Given the description of an element on the screen output the (x, y) to click on. 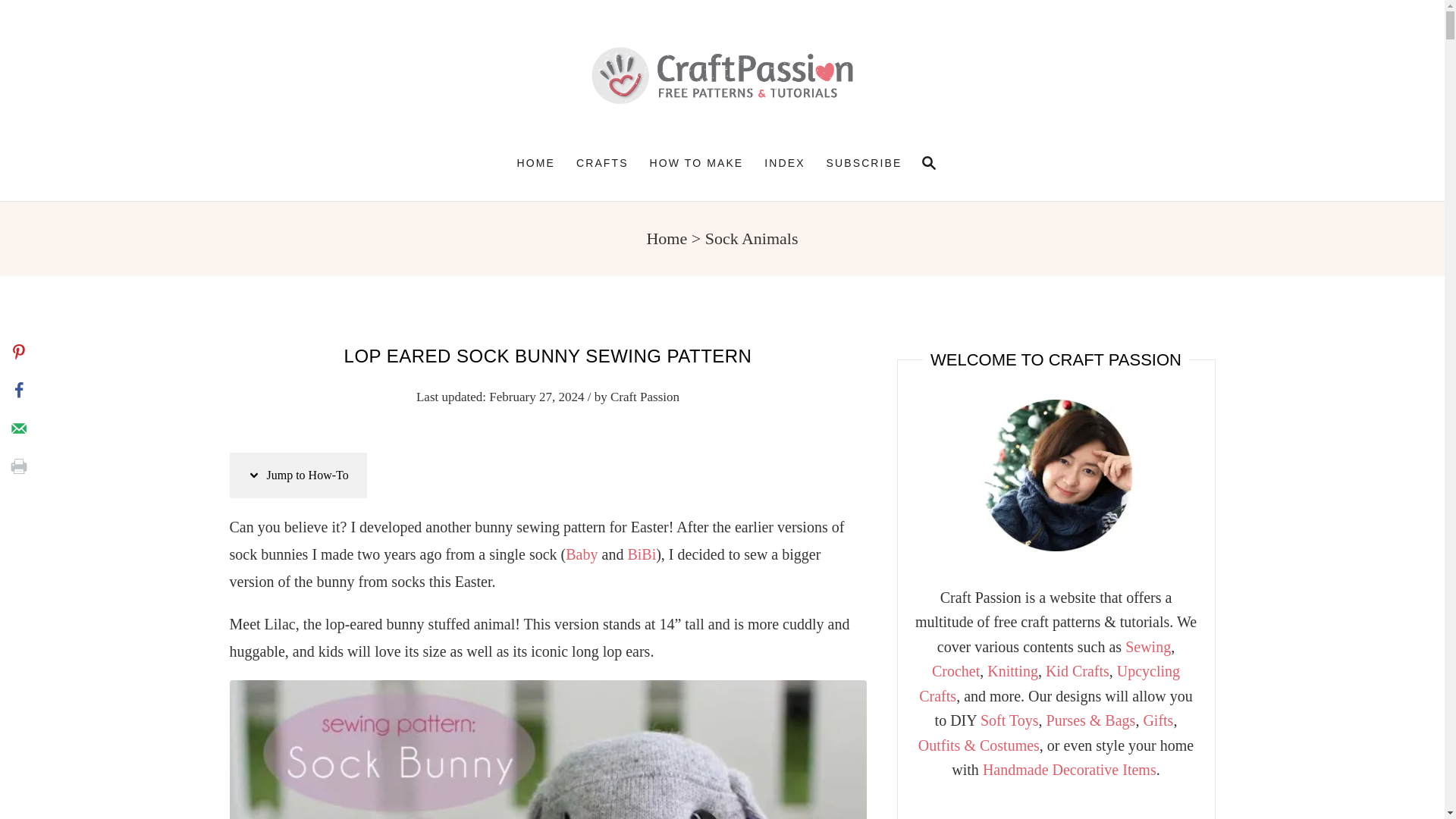
HOME (536, 162)
Sock Animals (924, 162)
Home (750, 238)
SUBSCRIBE (666, 238)
long ear sock bunny 1200 (863, 162)
Magnifying Glass (547, 749)
CRAFTS (928, 162)
Baby (602, 162)
BiBi (581, 554)
